Given the description of an element on the screen output the (x, y) to click on. 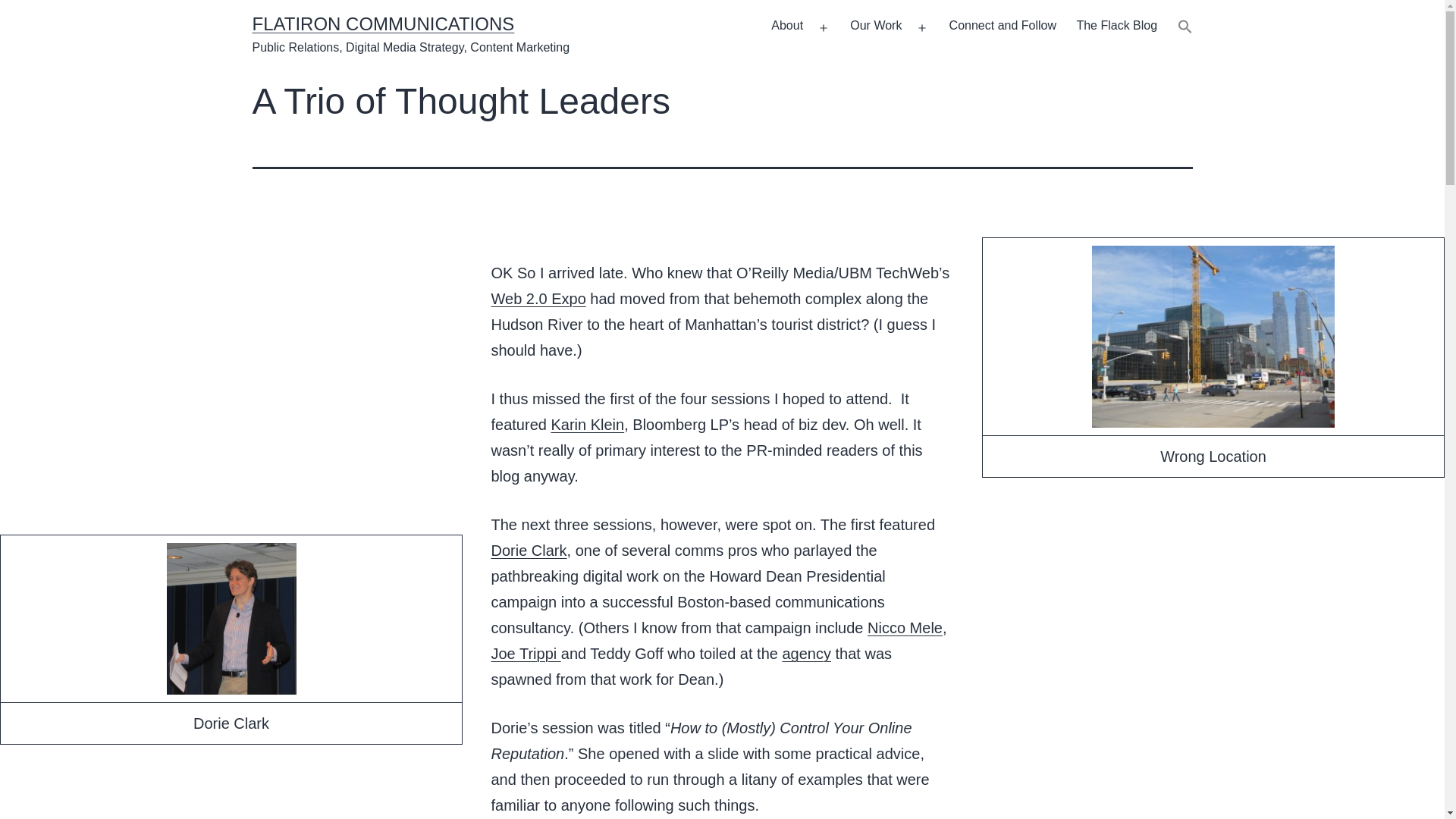
About (786, 27)
agency (806, 653)
Connect and Follow (1002, 27)
FLATIRON COMMUNICATIONS (382, 23)
Joe Trippi (526, 653)
Nicco Mele (904, 627)
Karin Klein (587, 424)
The Flack Blog (1116, 27)
Our Work (876, 27)
Web 2.0 Expo (539, 298)
Dorie Clark (529, 550)
